Given the description of an element on the screen output the (x, y) to click on. 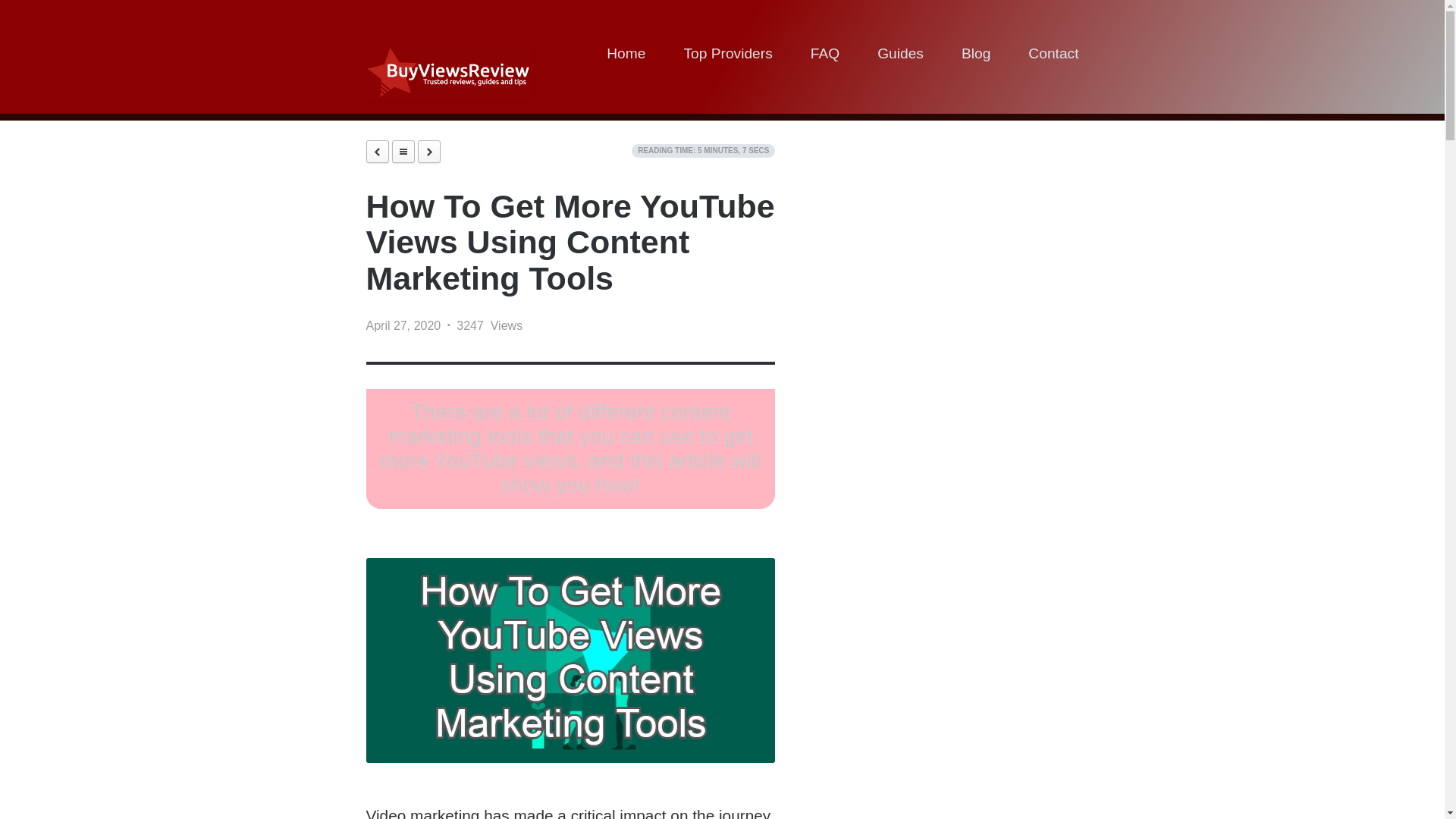
Home (626, 55)
Top Providers (726, 55)
FAQ (825, 55)
Contact (1052, 55)
Blog (975, 55)
Guides (900, 55)
